Given the description of an element on the screen output the (x, y) to click on. 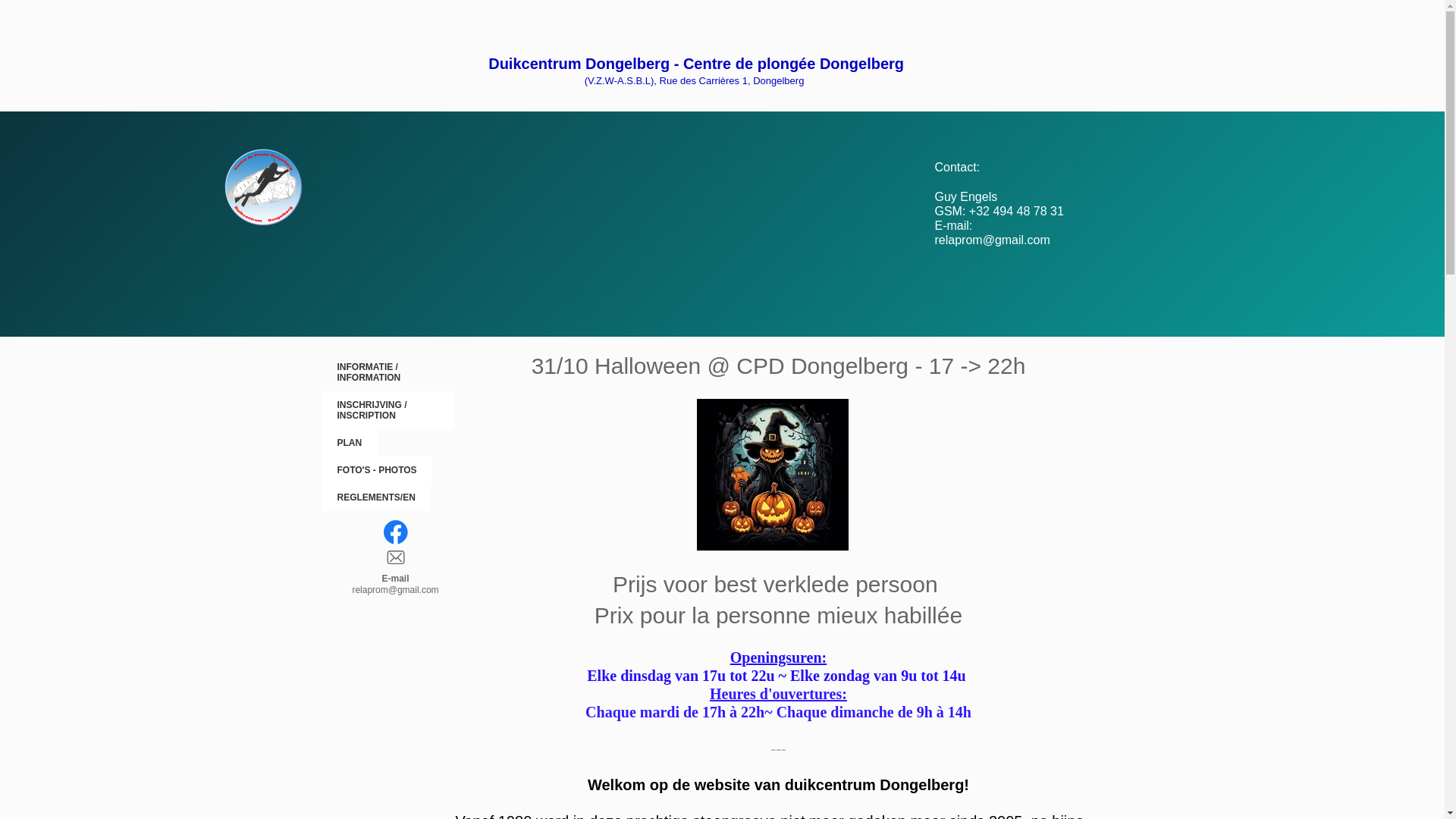
FOTO'S - PHOTOS Element type: text (376, 469)
INFORMATIE / INFORMATION Element type: text (387, 372)
REGLEMENTS/EN Element type: text (375, 497)
PLAN Element type: text (348, 442)
relaprom@gmail.com Element type: text (394, 589)
INSCHRIJVING / INSCRIPTION Element type: text (387, 410)
relaprom@gmail.com Element type: text (991, 239)
